Given the description of an element on the screen output the (x, y) to click on. 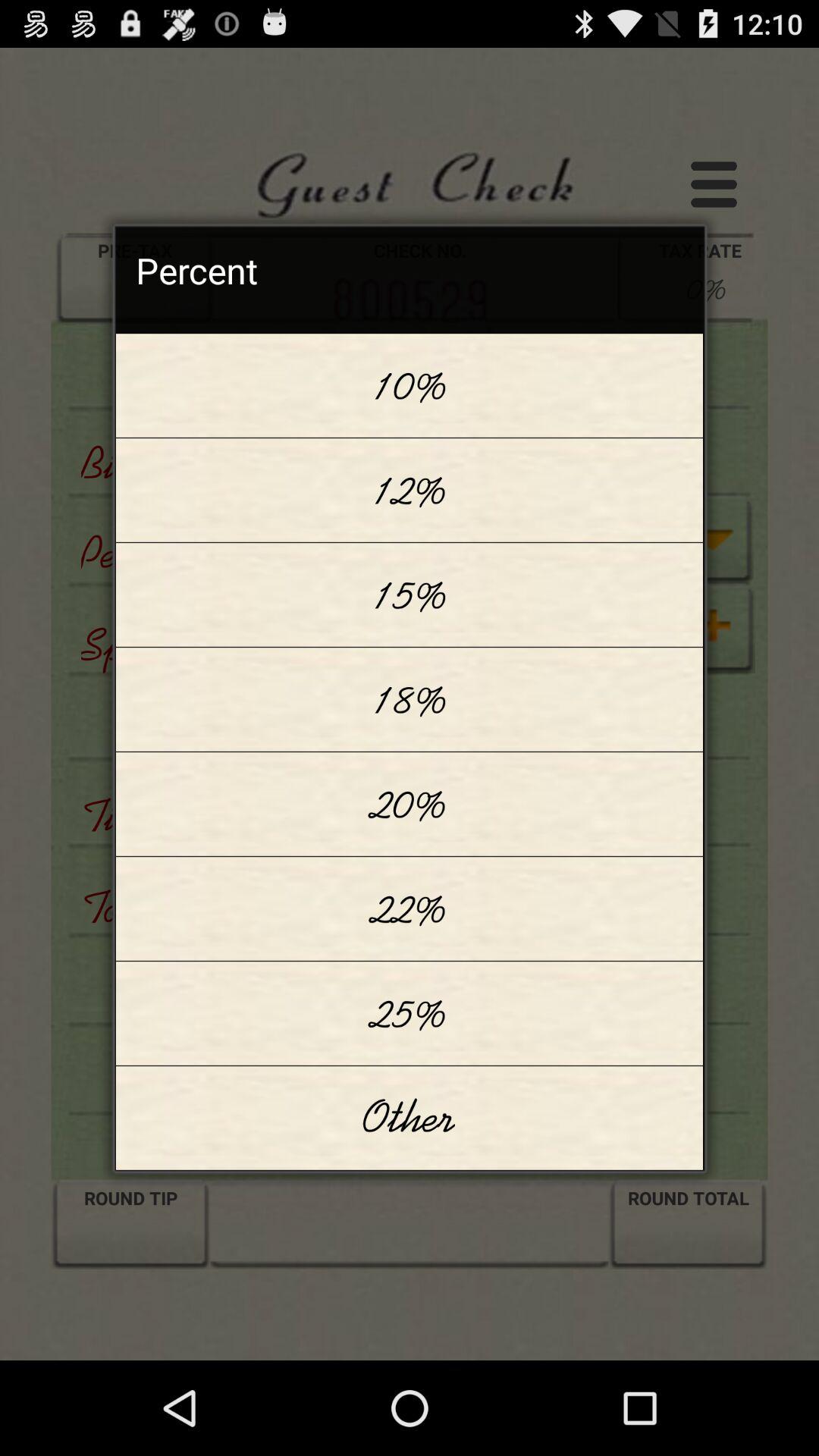
click the item below 10% icon (409, 489)
